Given the description of an element on the screen output the (x, y) to click on. 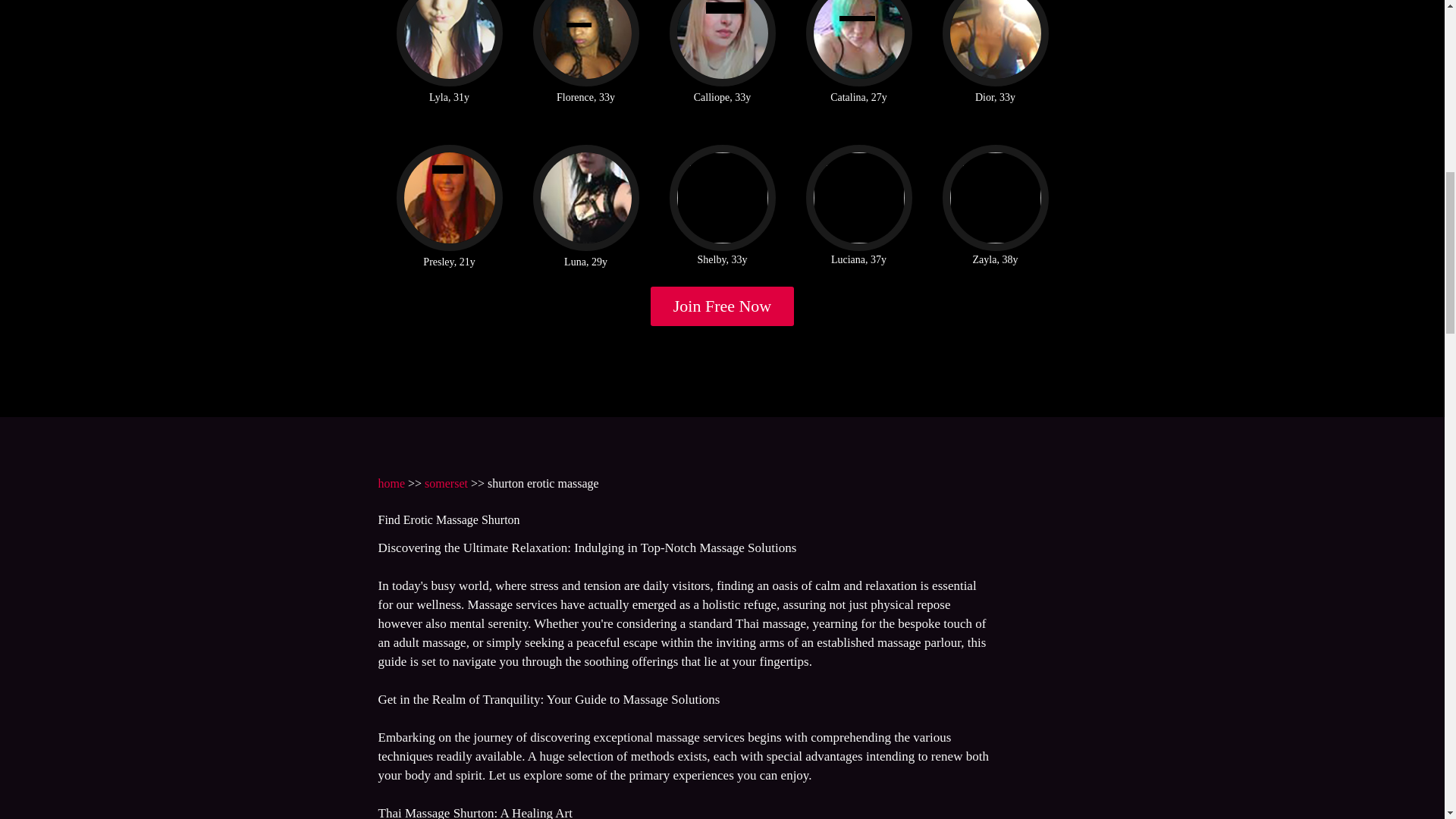
somerset (446, 482)
Join (722, 305)
Join Free Now (722, 305)
home (390, 482)
